Given the description of an element on the screen output the (x, y) to click on. 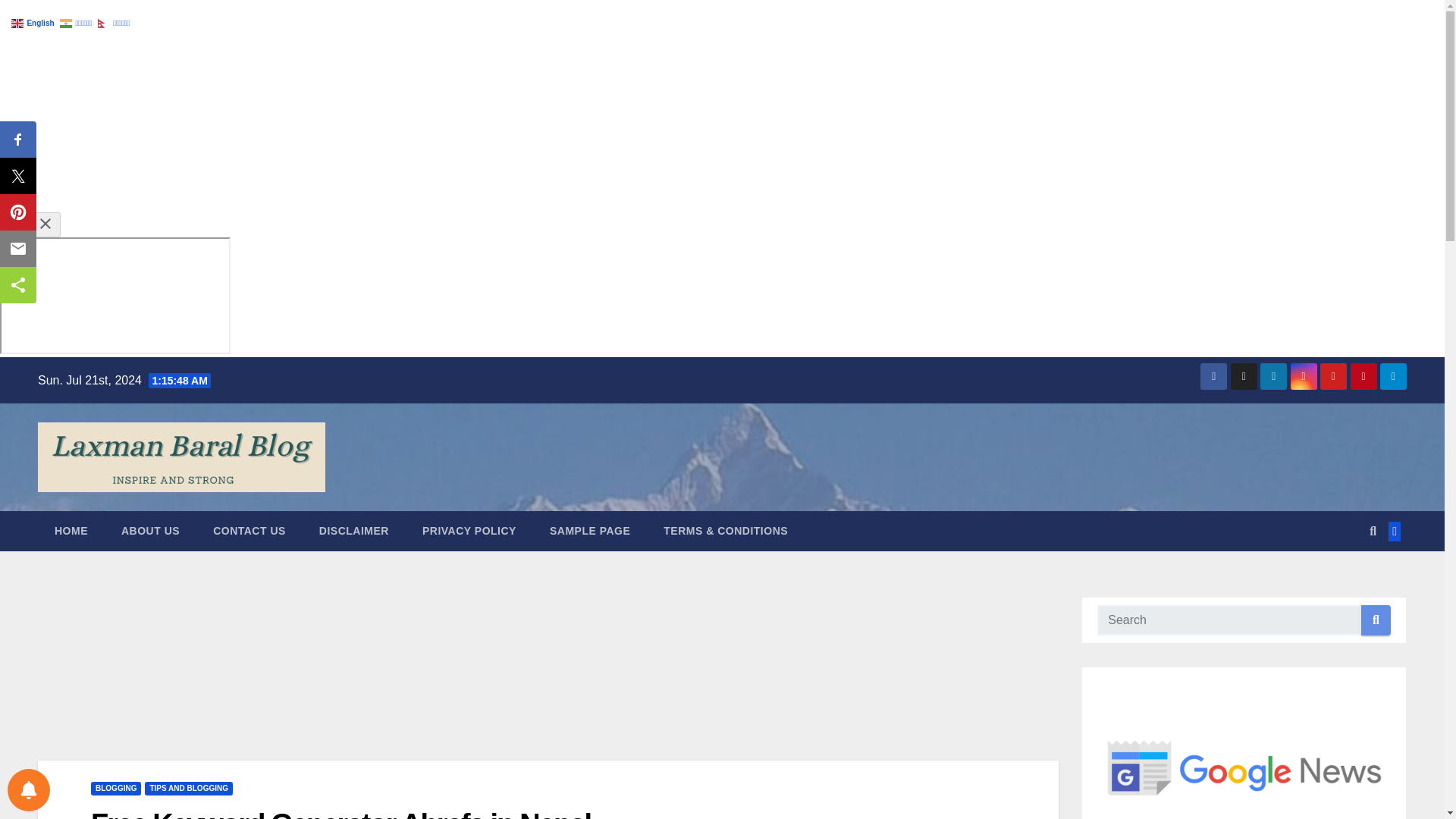
Free Keyword Generator Ahrefs in Nepal (340, 813)
ABOUT US (150, 530)
PRIVACY POLICY (469, 530)
CONTACT US (249, 530)
SAMPLE PAGE (589, 530)
Permalink to: Free Keyword Generator Ahrefs in Nepal (340, 813)
DISCLAIMER (354, 530)
Home (70, 530)
HOME (70, 530)
TIPS AND BLOGGING (188, 788)
BLOGGING (115, 788)
